Given the description of an element on the screen output the (x, y) to click on. 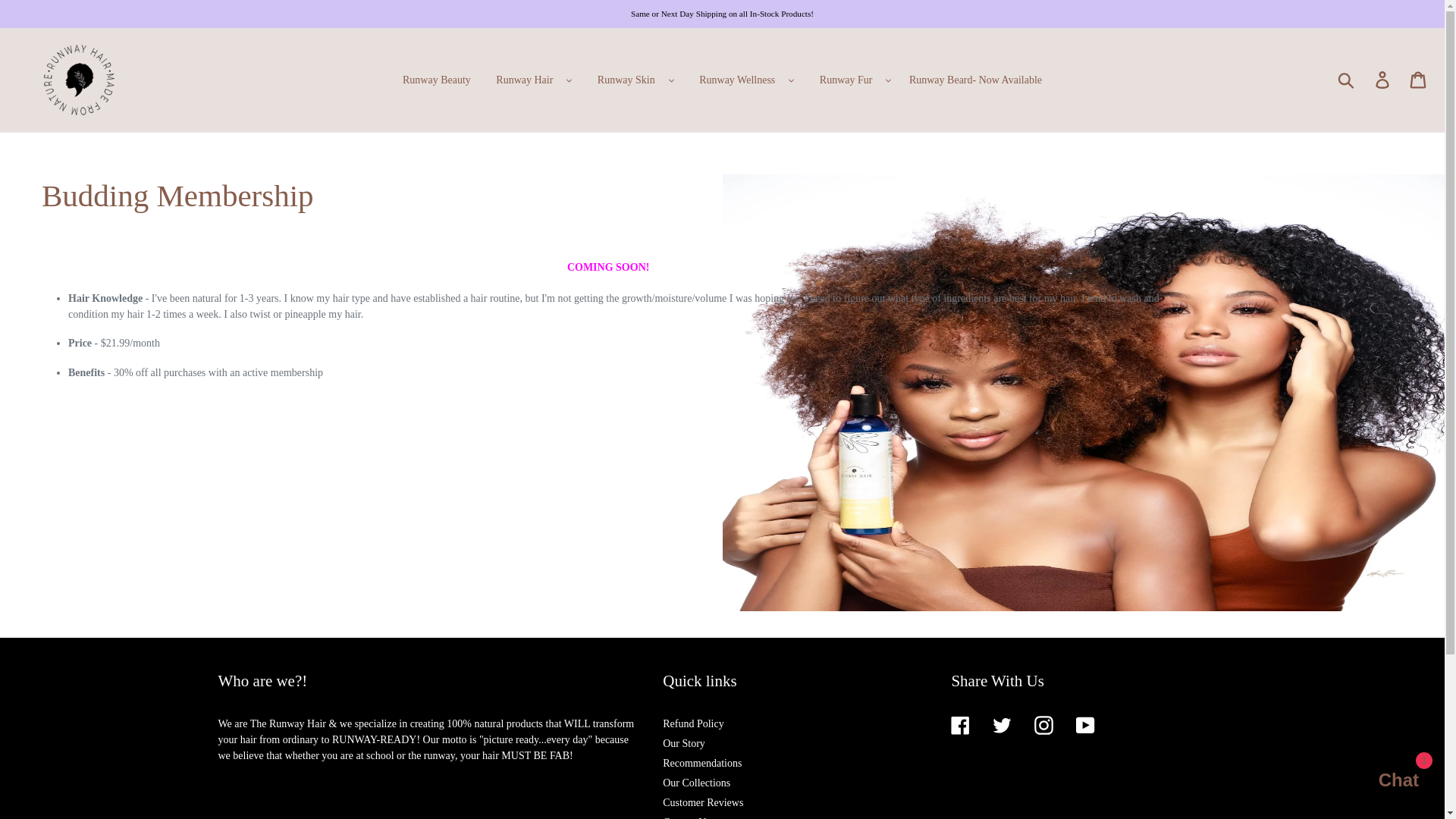
Runway Hair (523, 79)
Runway Beauty (436, 79)
Buscar (1346, 79)
Runway Skin (625, 79)
Carrito (1418, 79)
Runway Beard- Now Available (975, 79)
Runway Fur (846, 79)
Chat de la tienda online Shopify (1383, 781)
Ingresar (1382, 79)
Runway Wellness (737, 79)
